Given the description of an element on the screen output the (x, y) to click on. 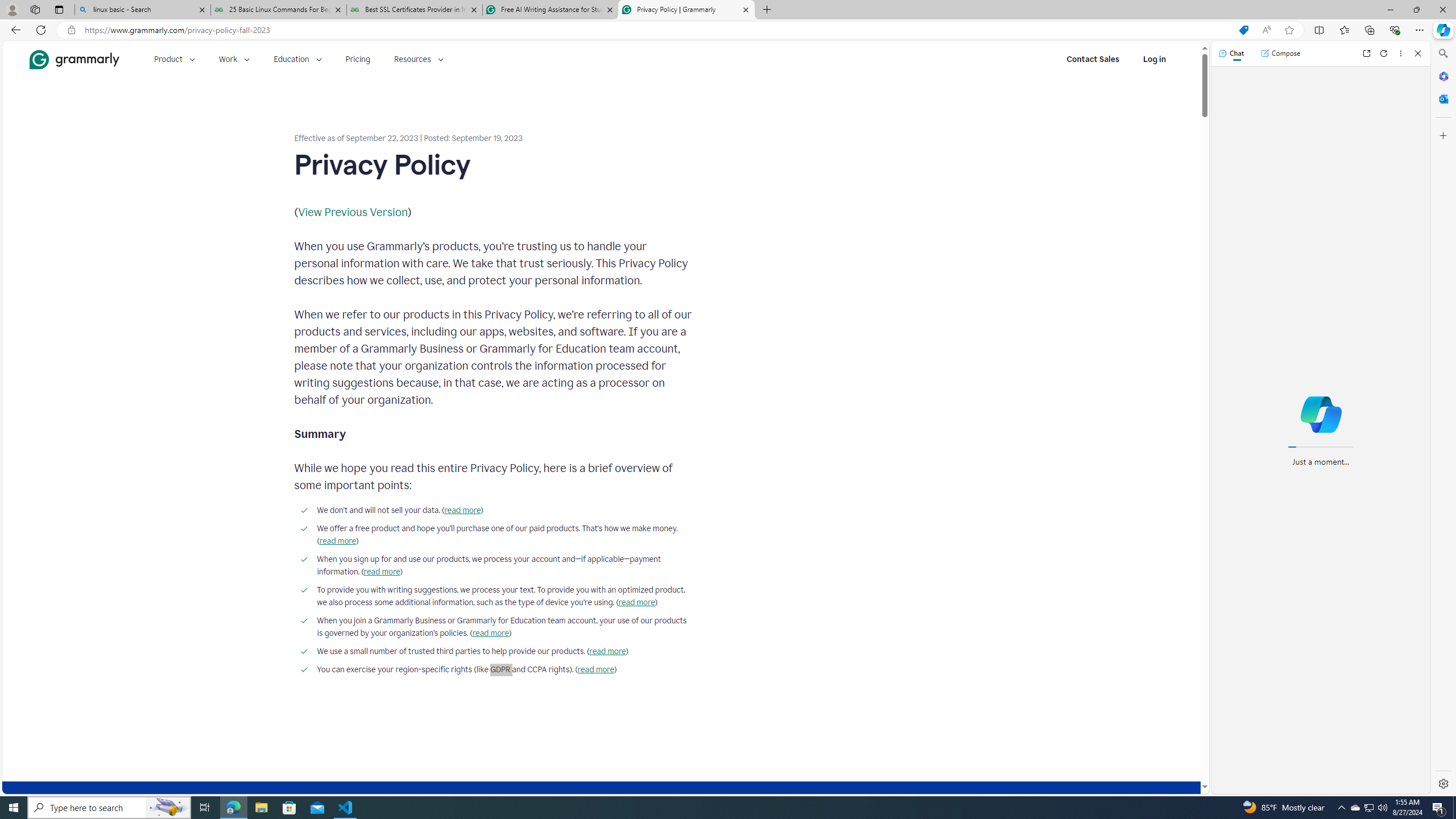
read more (595, 669)
Best SSL Certificates Provider in India - GeeksforGeeks (414, 9)
Product (174, 58)
Work (234, 58)
25 Basic Linux Commands For Beginners - GeeksforGeeks (277, 9)
Grammarly Home (74, 59)
Chat (1231, 52)
Work (234, 58)
Pricing (357, 58)
